Given the description of an element on the screen output the (x, y) to click on. 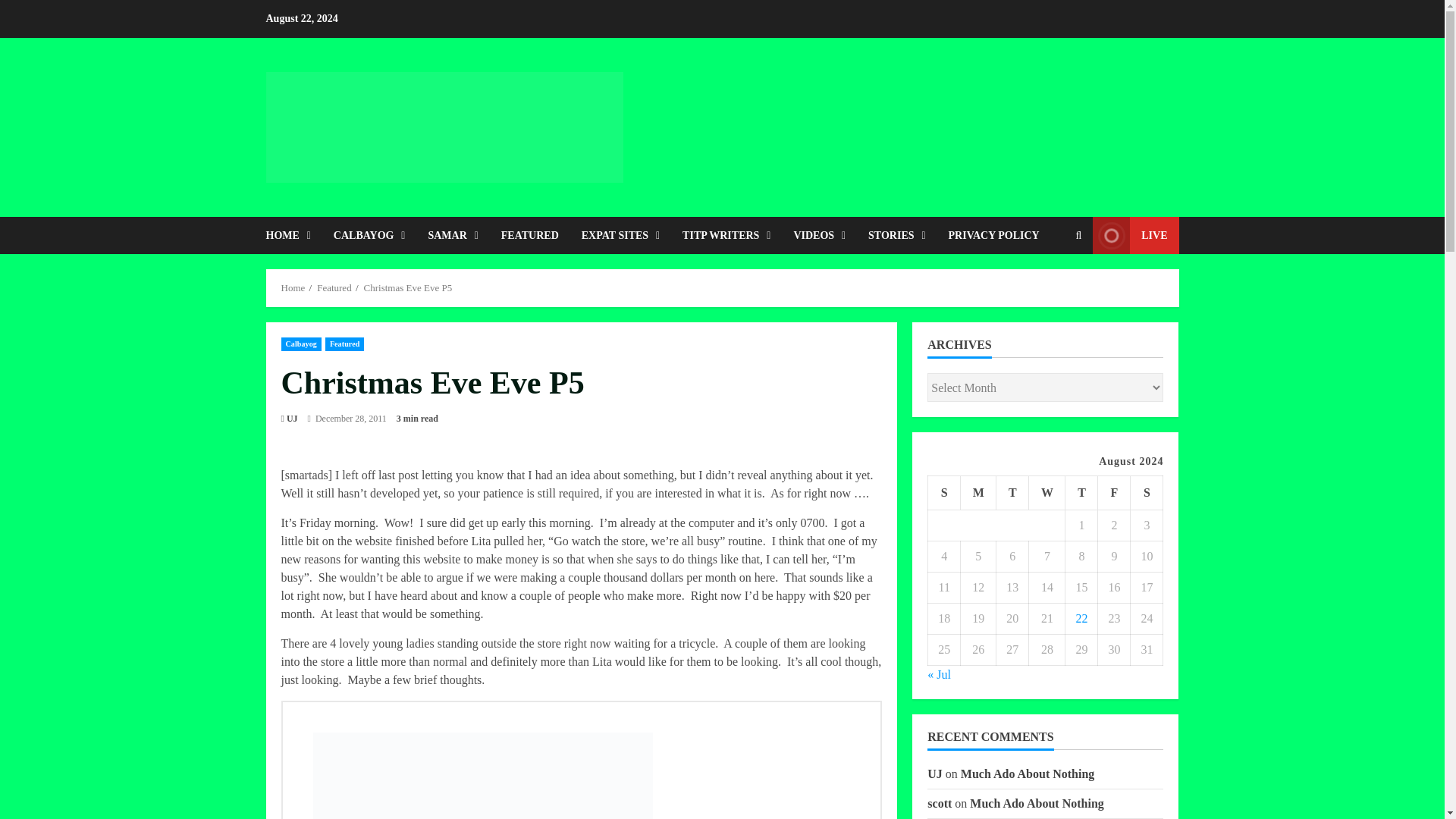
Khany-Bebie Sportage (482, 775)
EXPAT SITES (620, 235)
VIDEOS (819, 235)
Thursday (1081, 492)
Monday (977, 492)
Sunday (944, 492)
TITP WRITERS (726, 235)
HOME (292, 235)
SAMAR (452, 235)
FEATURED (529, 235)
